Given the description of an element on the screen output the (x, y) to click on. 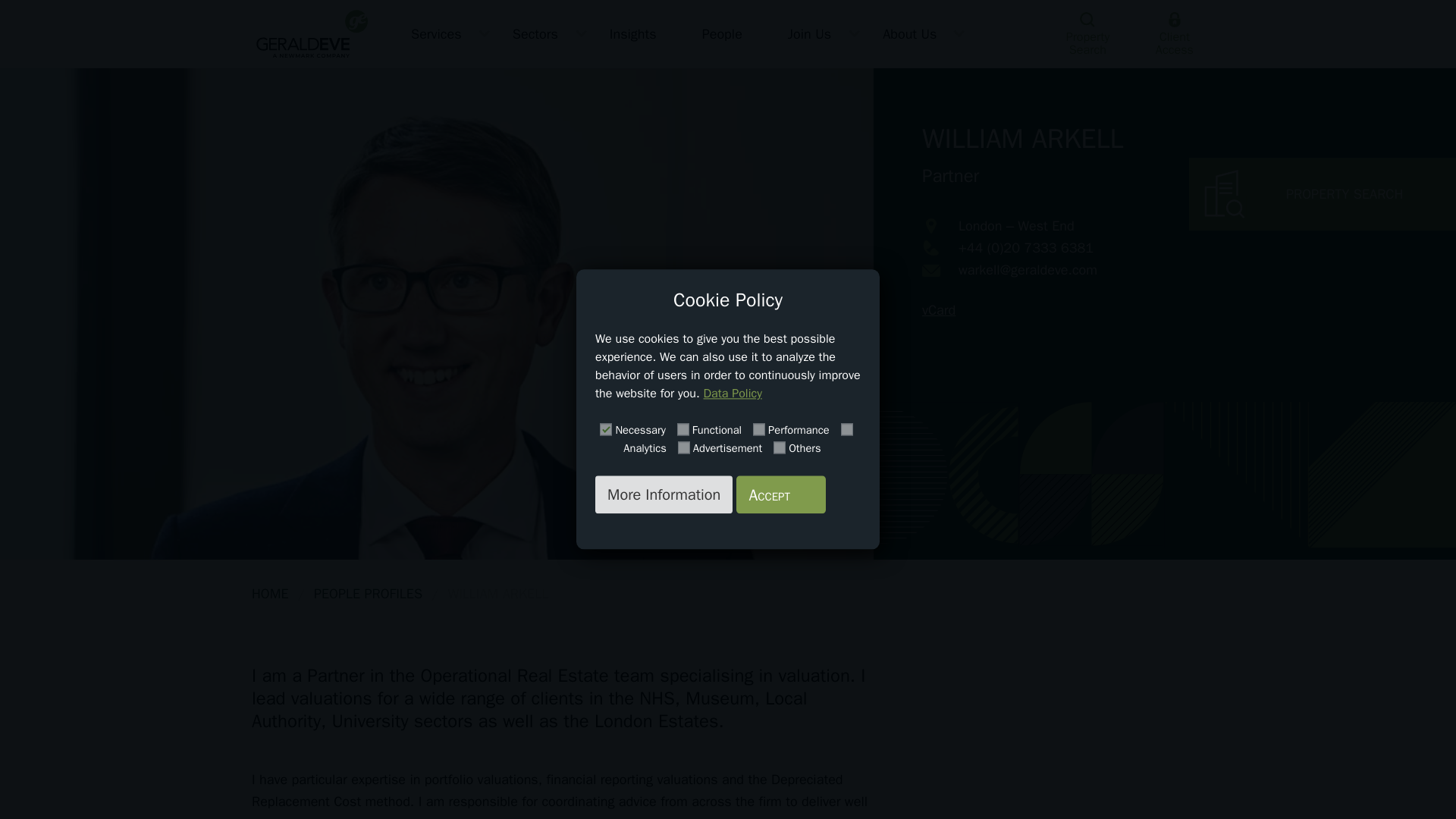
on (682, 428)
Services (438, 33)
on (758, 428)
on (605, 428)
on (684, 447)
on (779, 447)
on (847, 428)
